Given the description of an element on the screen output the (x, y) to click on. 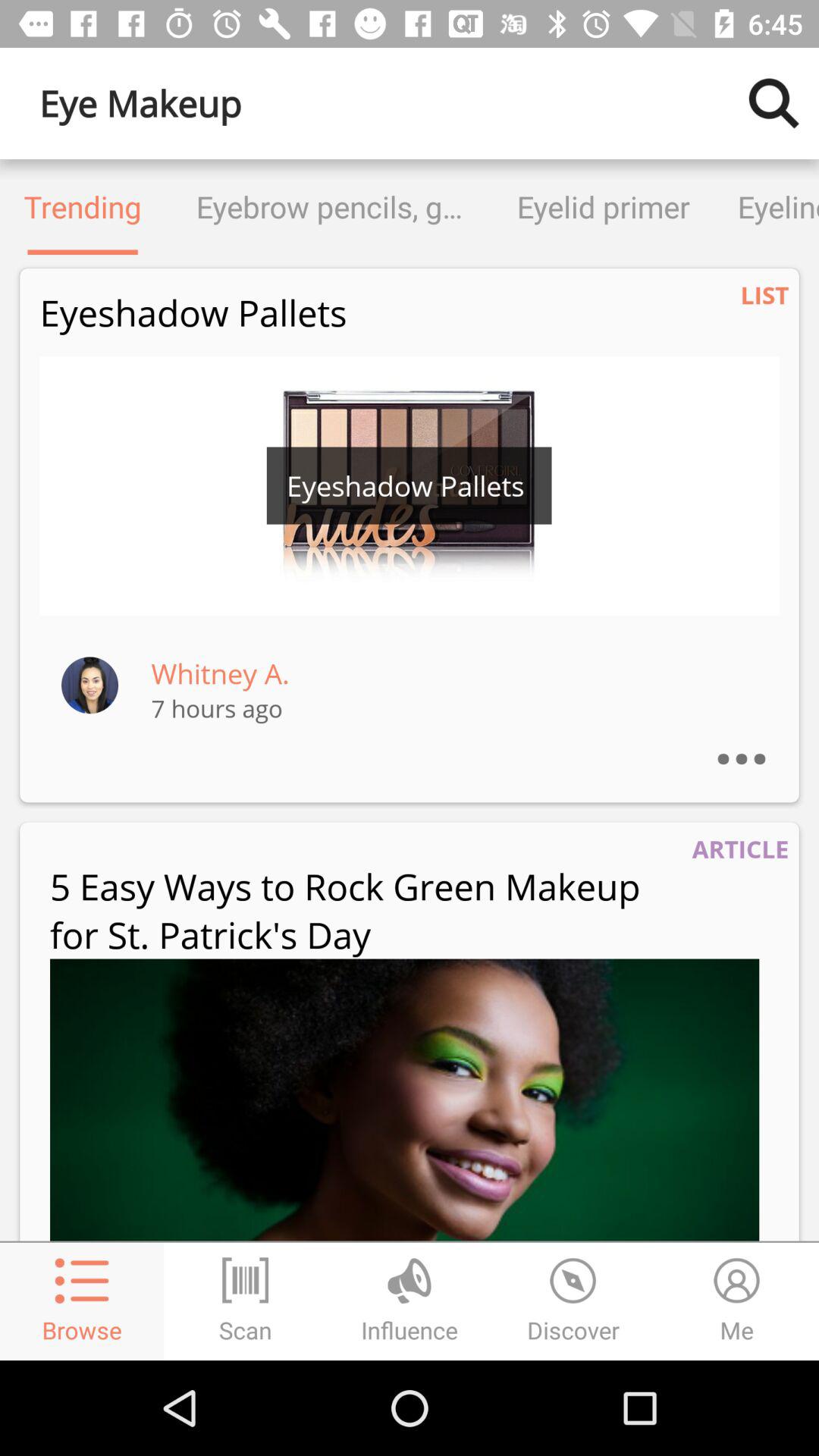
scroll until eyeliner icon (766, 206)
